Given the description of an element on the screen output the (x, y) to click on. 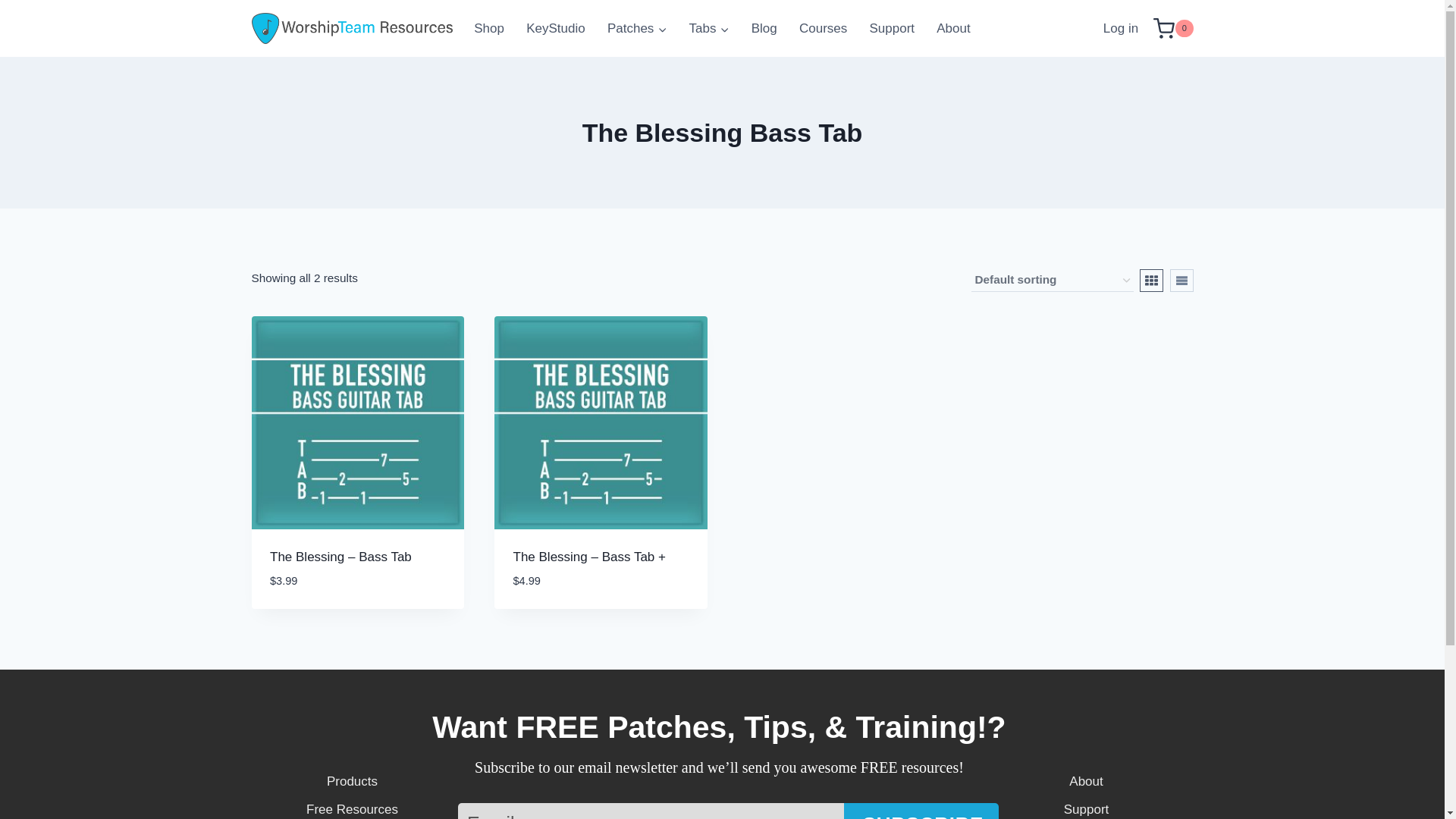
Support (892, 28)
Grid View (1151, 280)
Tabs (708, 28)
0 (1172, 28)
Blog (763, 28)
Patches (636, 28)
Free Resources (351, 809)
Products (351, 781)
About (953, 28)
Log in (1121, 28)
